Given the description of an element on the screen output the (x, y) to click on. 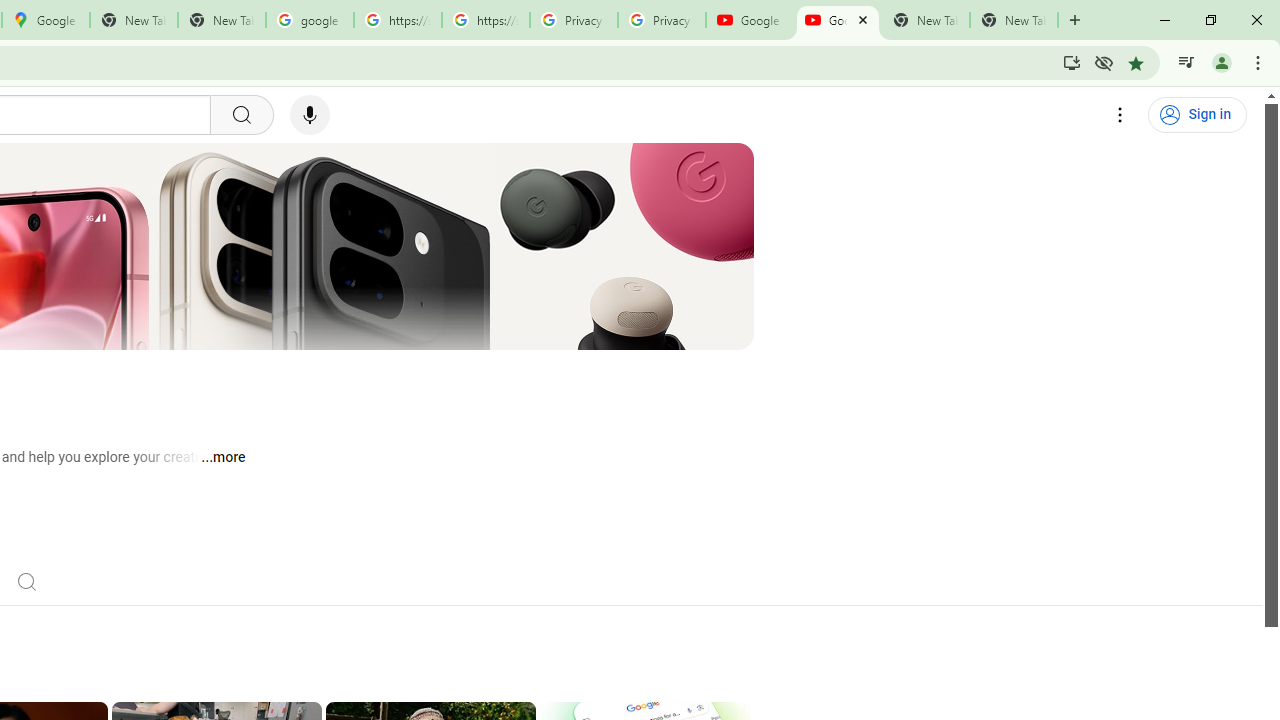
Google - YouTube (837, 20)
Install YouTube (1071, 62)
https://scholar.google.com/ (397, 20)
